Given the description of an element on the screen output the (x, y) to click on. 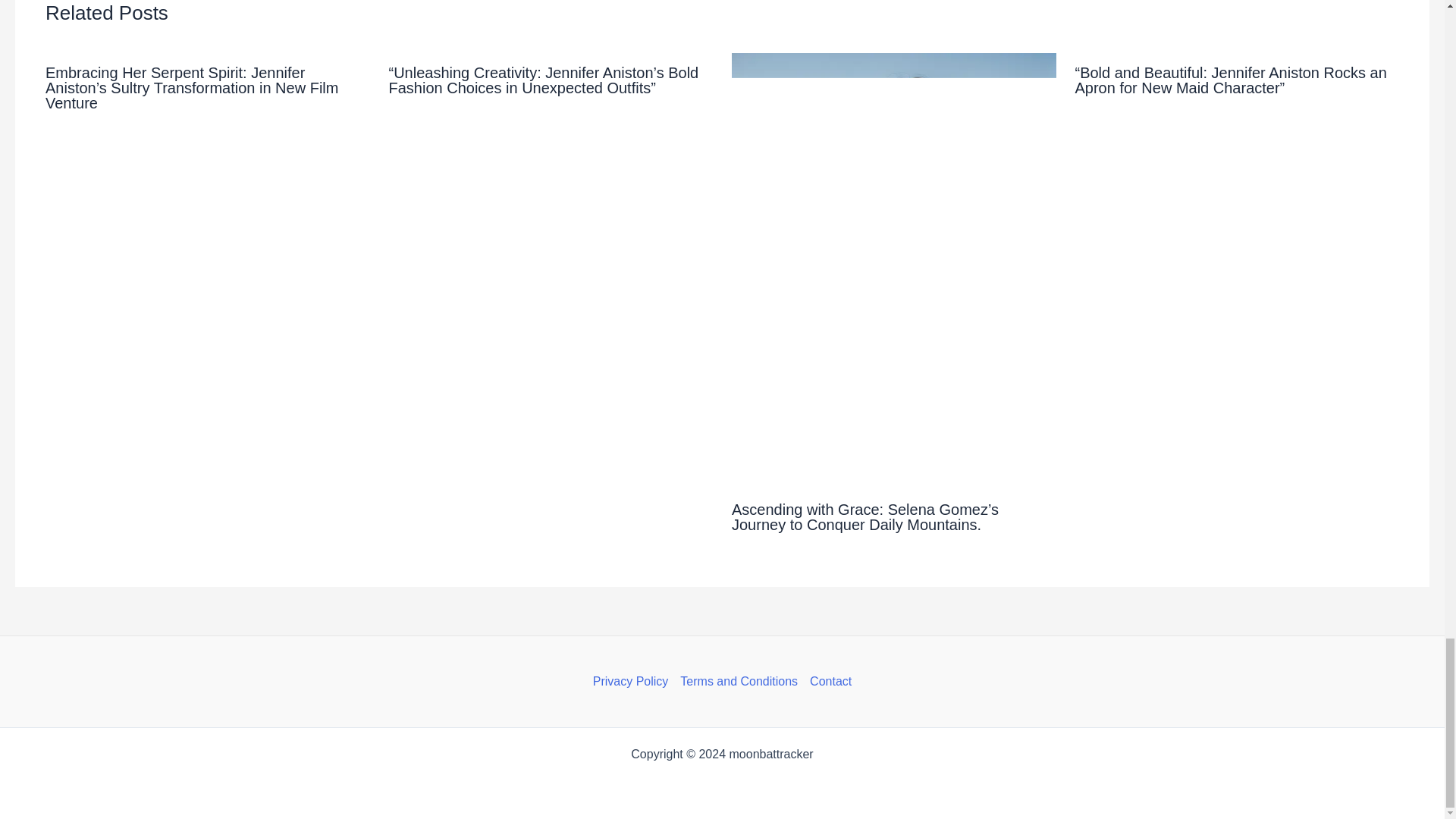
Privacy Policy (633, 681)
Contact (827, 681)
Terms and Conditions (738, 681)
